Given the description of an element on the screen output the (x, y) to click on. 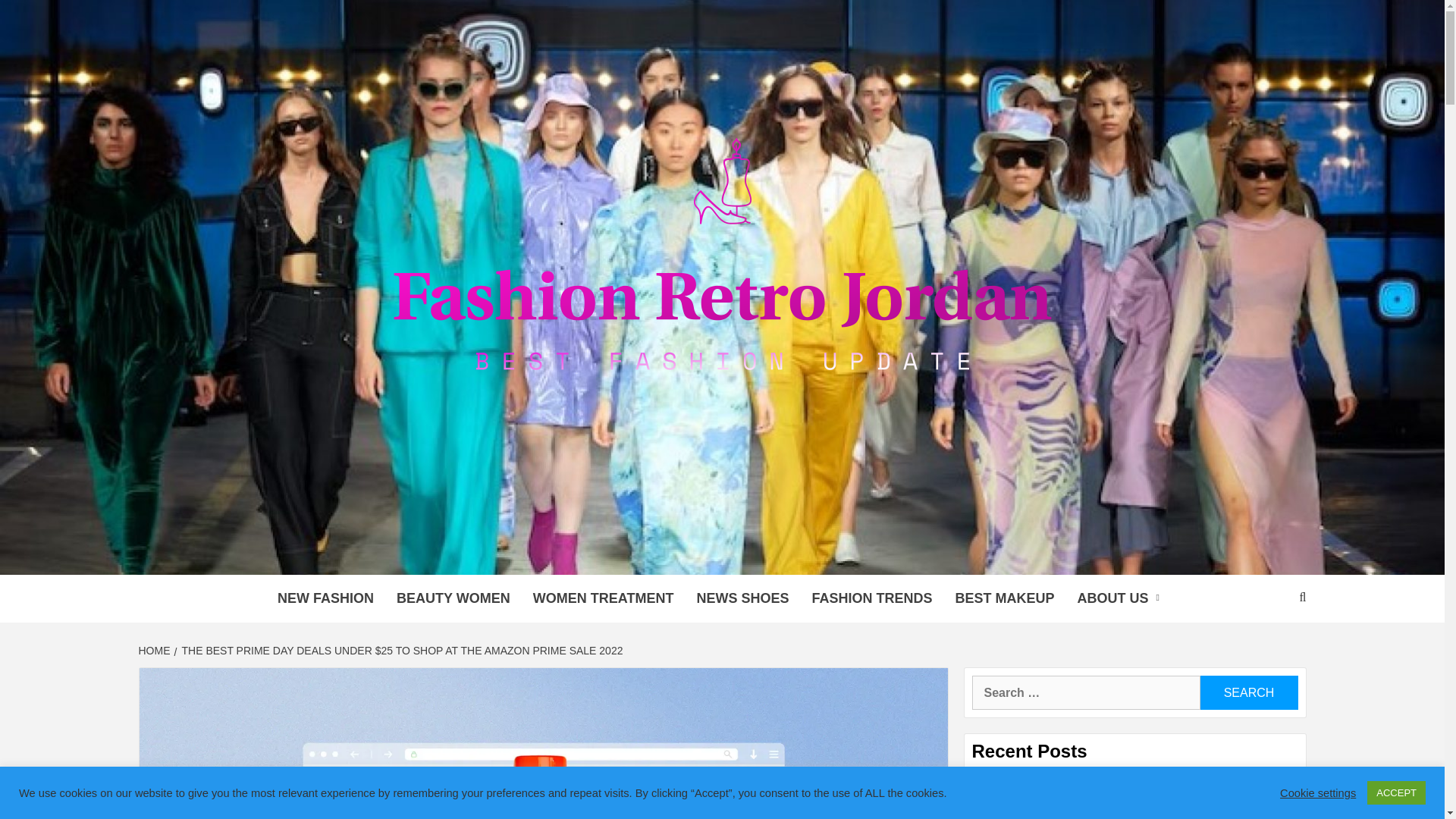
NEWS SHOES (741, 598)
FASHION RETRO JORDAN (623, 555)
NEW FASHION (325, 598)
HOME (155, 650)
Search (1248, 692)
BEST MAKEUP (1004, 598)
FASHION TRENDS (871, 598)
Search (1248, 692)
WOMEN TREATMENT (603, 598)
